Given the description of an element on the screen output the (x, y) to click on. 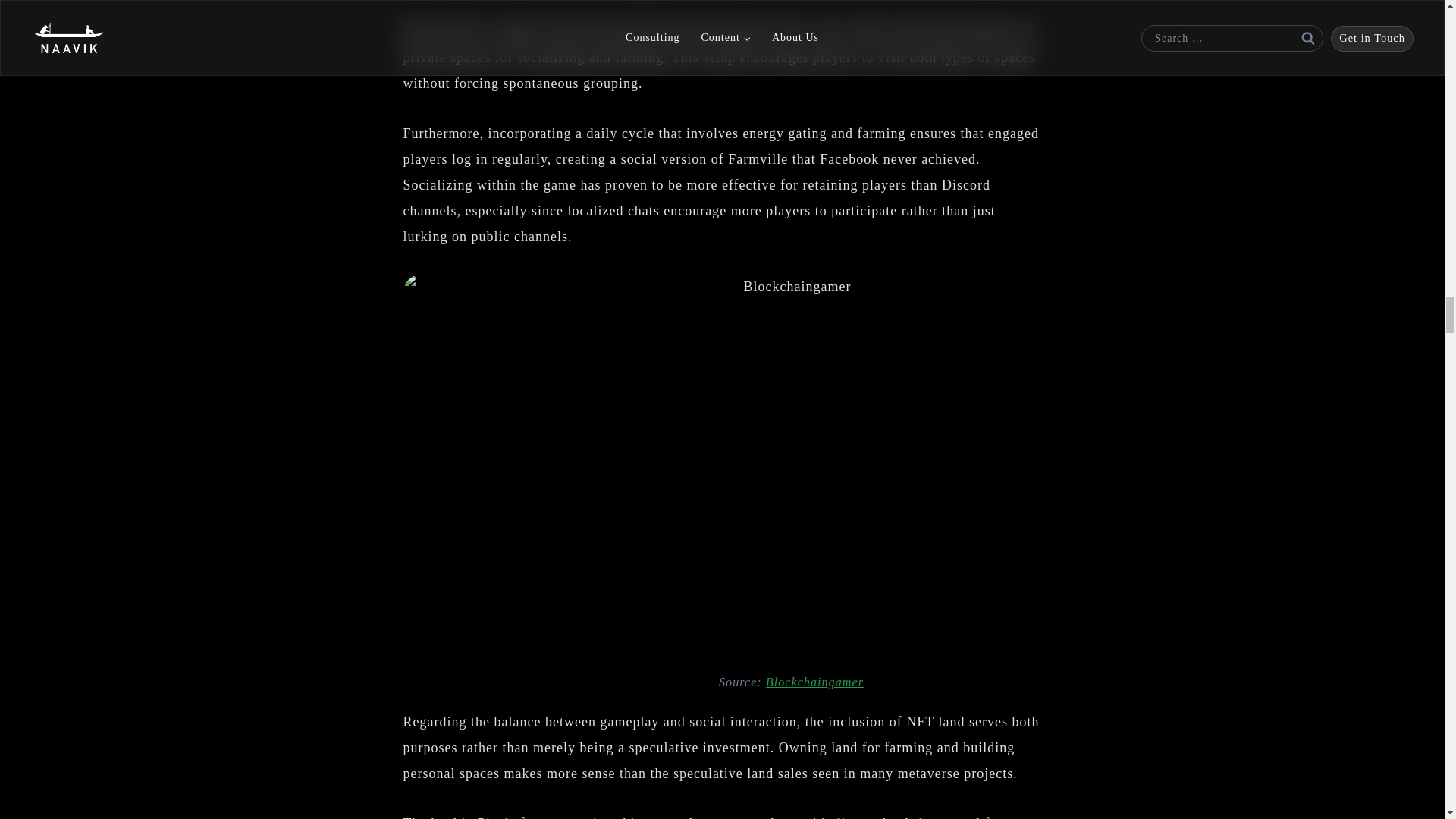
Blockchaingamer (814, 682)
